Given the description of an element on the screen output the (x, y) to click on. 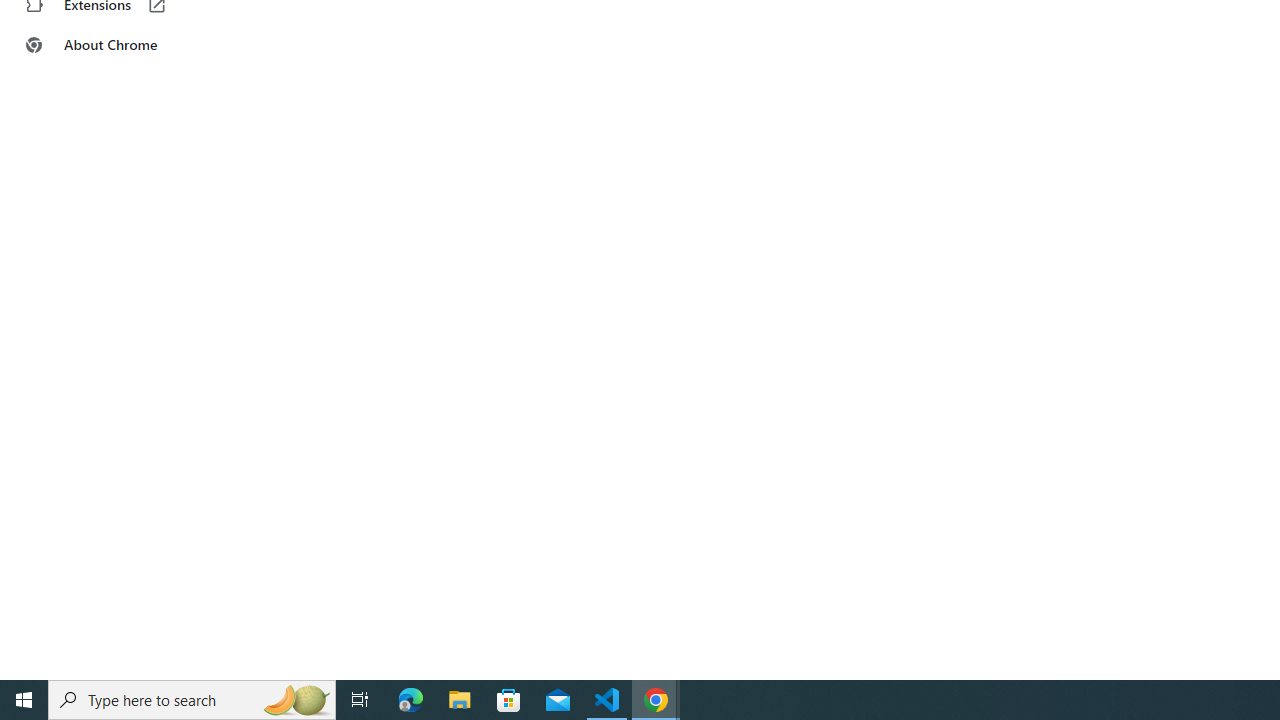
About Chrome (124, 44)
